Given the description of an element on the screen output the (x, y) to click on. 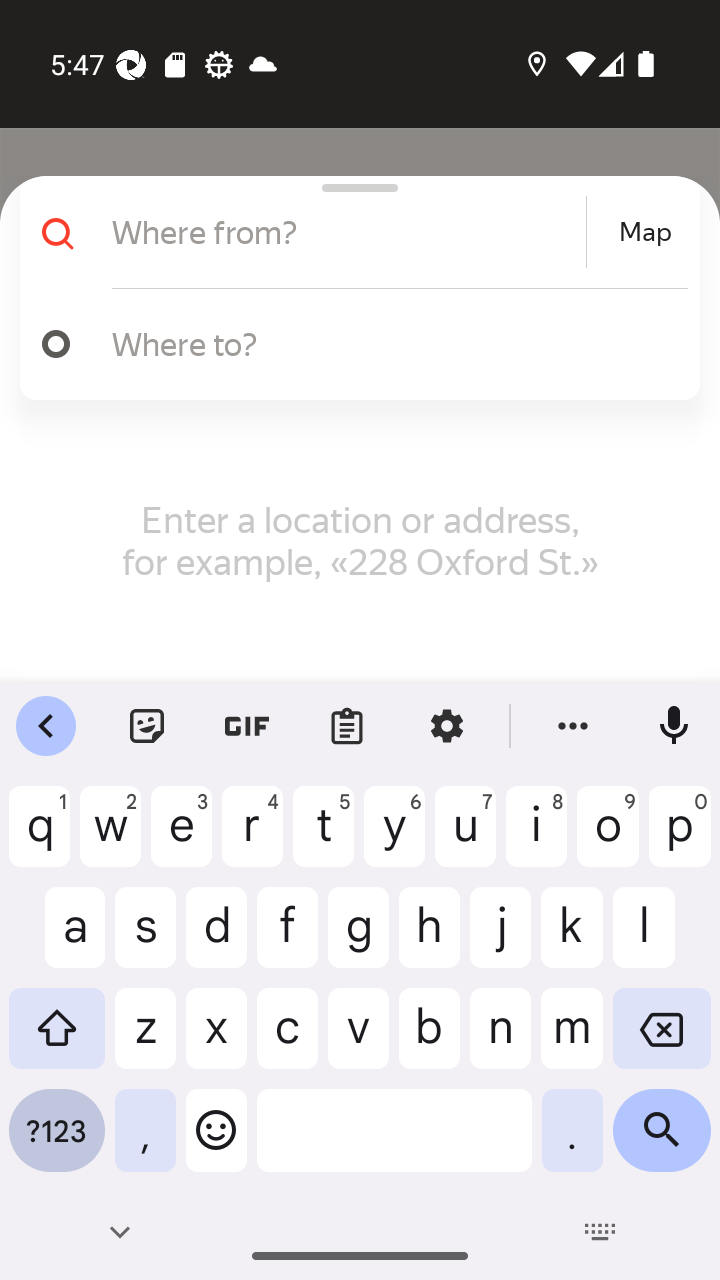
Where from? Map Map (352, 232)
Map (645, 232)
Where from? (346, 232)
Where to? (352, 343)
Where to? (390, 343)
